Given the description of an element on the screen output the (x, y) to click on. 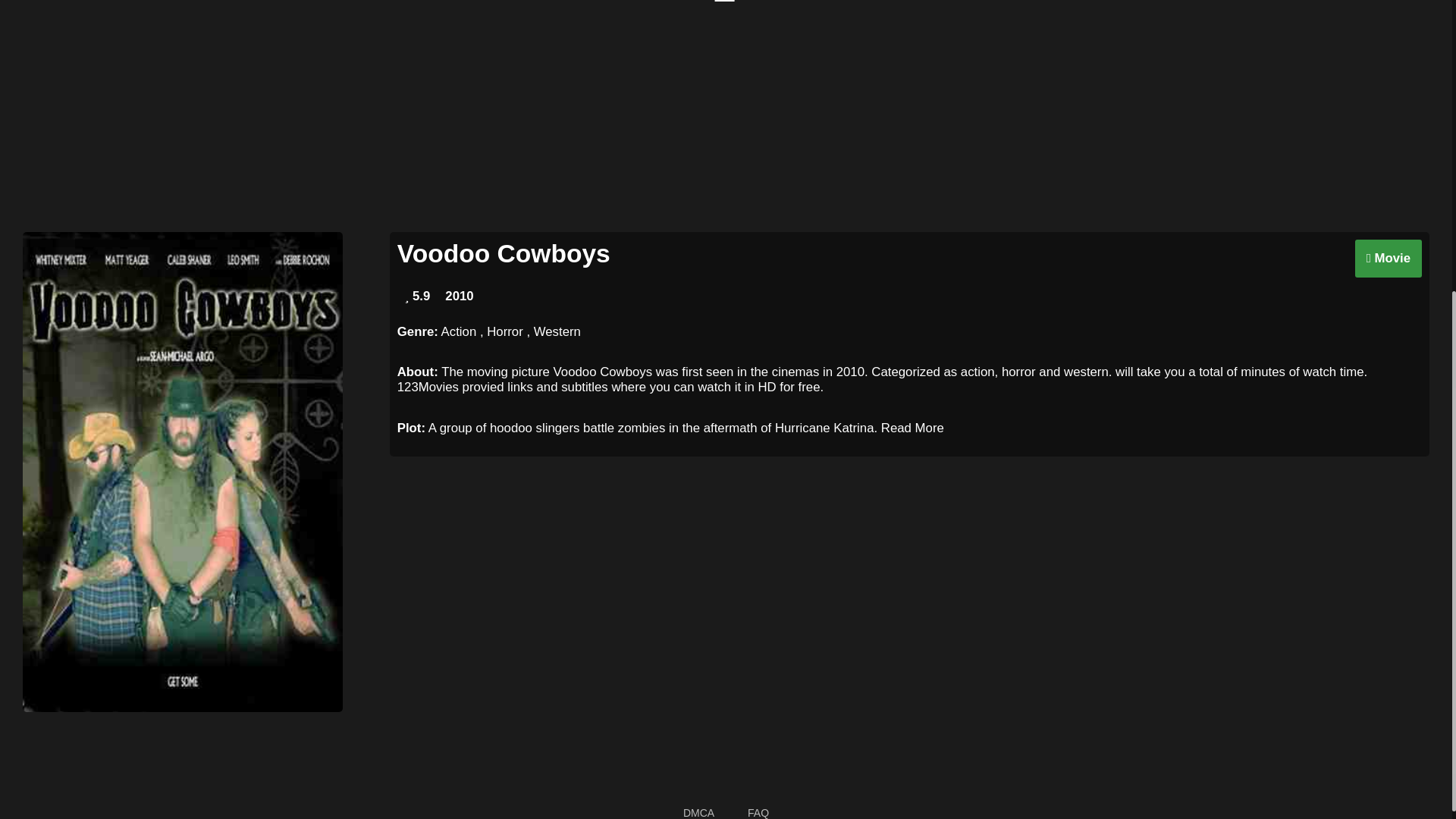
Read More (911, 427)
Rating (417, 296)
Release date (459, 296)
